Given the description of an element on the screen output the (x, y) to click on. 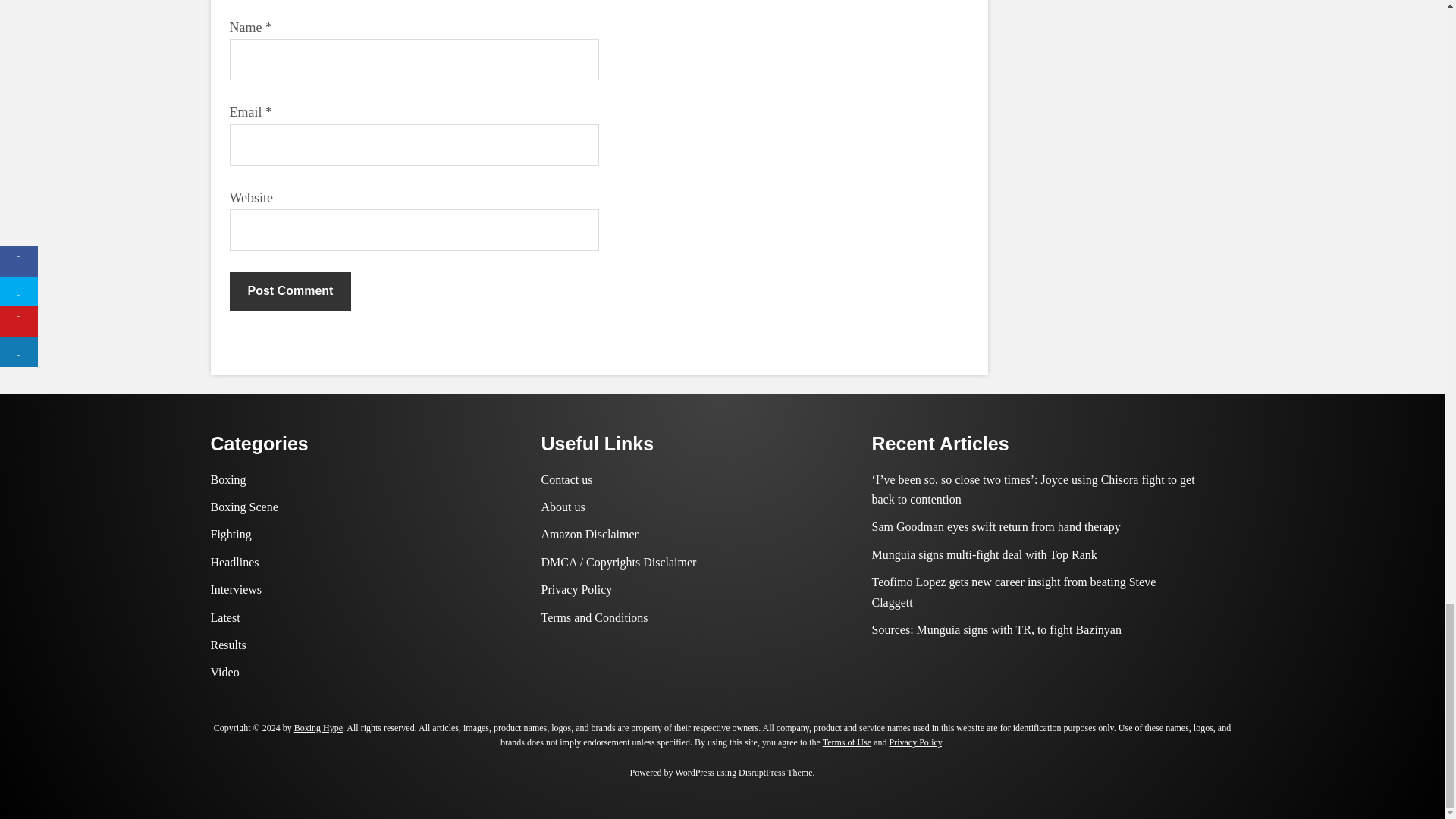
Post Comment (289, 290)
